Given the description of an element on the screen output the (x, y) to click on. 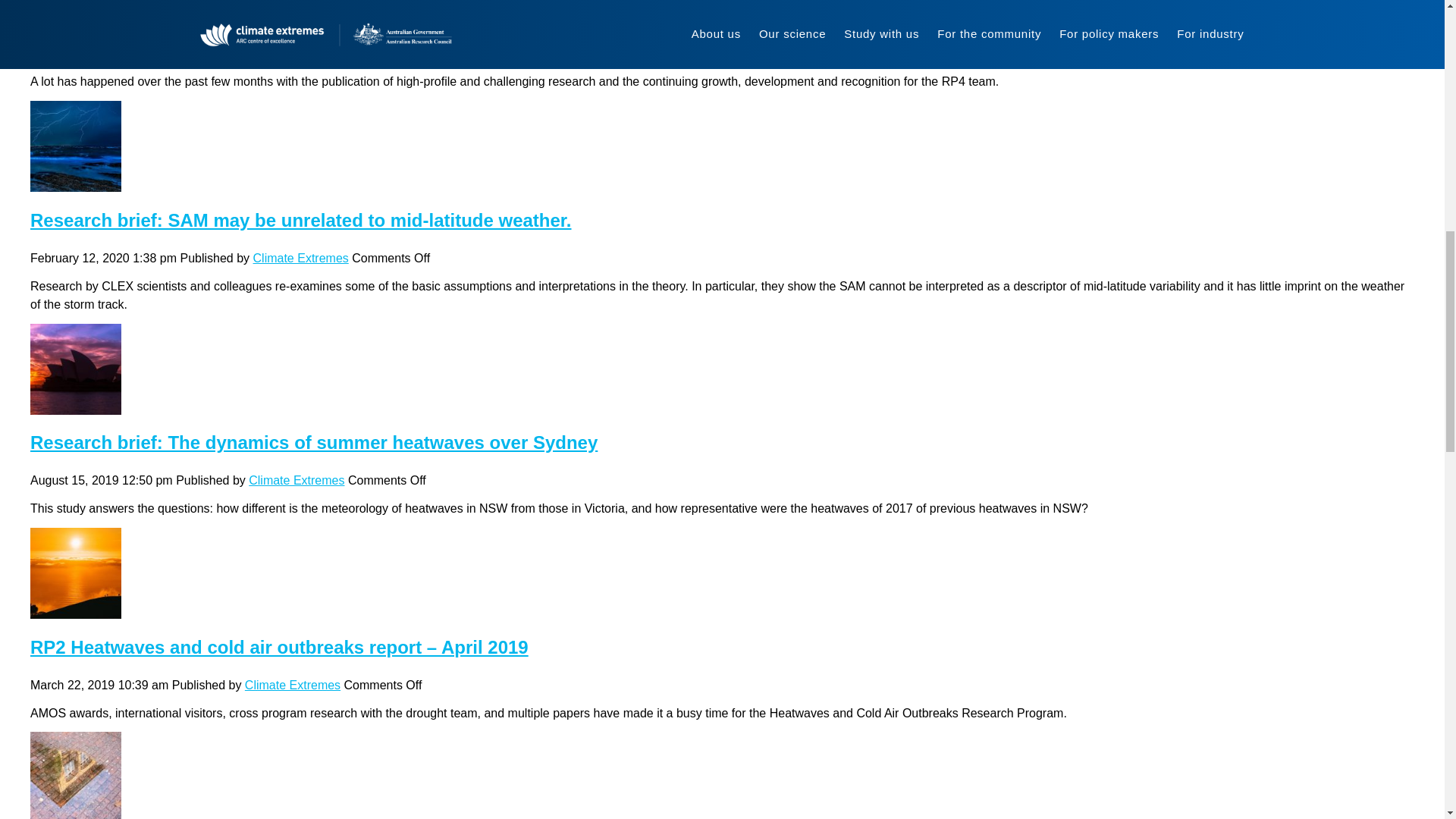
Posts by Climate Extremes (301, 257)
Posts by Climate Extremes (295, 480)
Research brief: The dynamics of summer heatwaves over Sydney (313, 442)
Posts by Climate Extremes (292, 684)
Posts by Climate Extremes (276, 52)
Research brief: The dynamics of summer heatwaves over Sydney (75, 404)
